Given the description of an element on the screen output the (x, y) to click on. 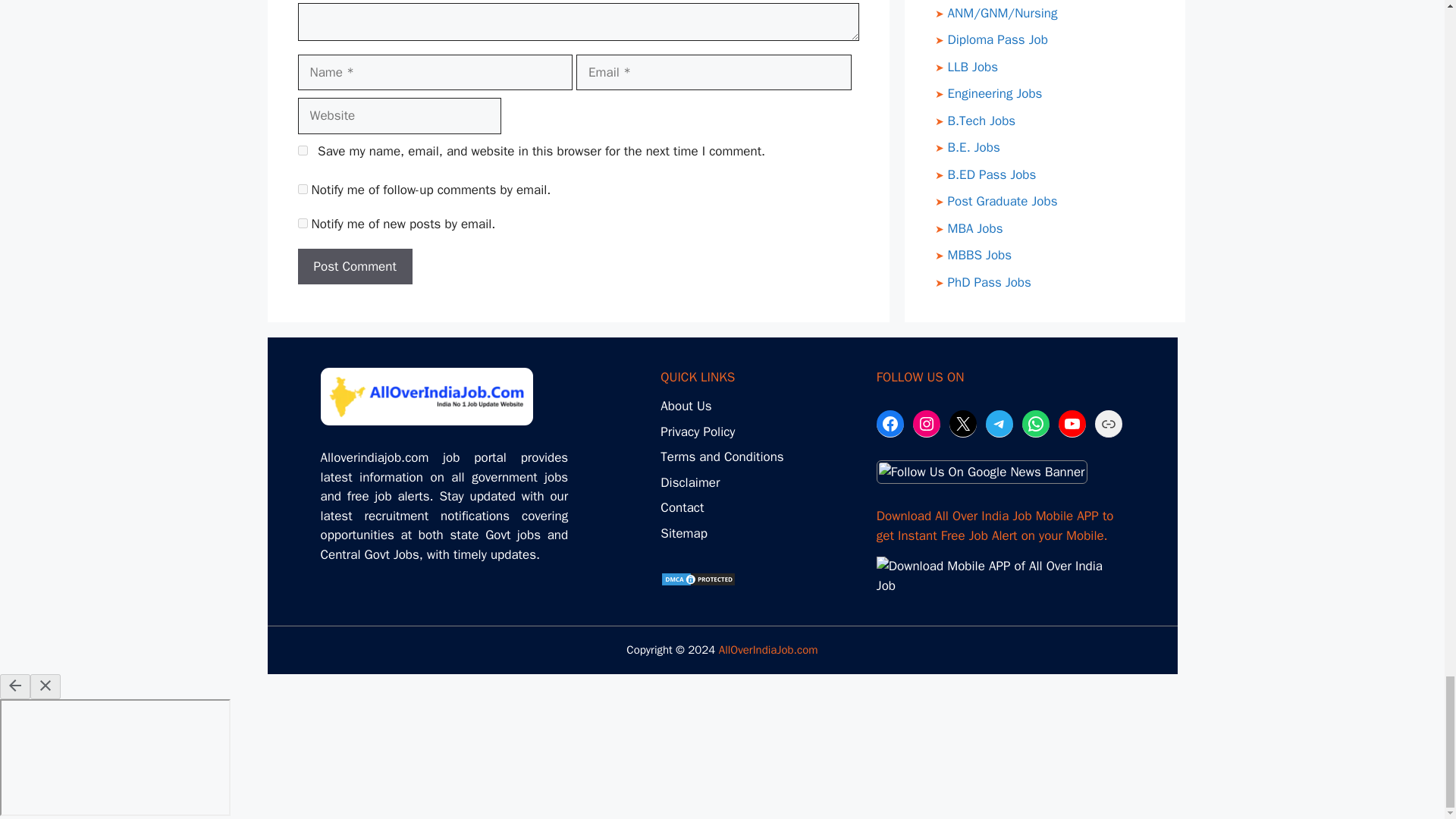
yes (302, 150)
Post Comment (354, 266)
subscribe (302, 223)
subscribe (302, 189)
DMCA.com Protection Status (698, 582)
